Given the description of an element on the screen output the (x, y) to click on. 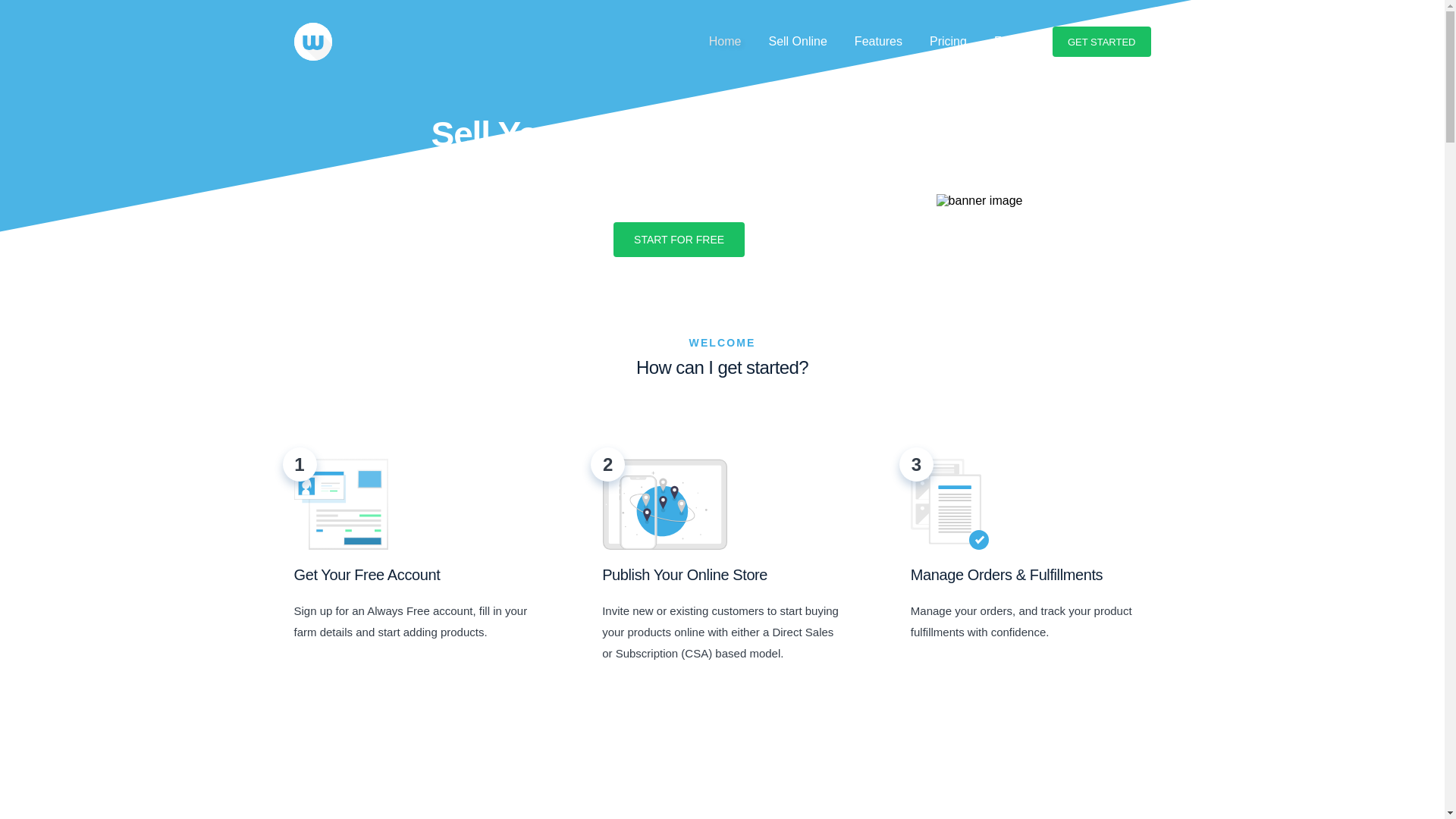
HomeSell OnlineFeaturesPricingFAQ (863, 41)
START FOR FREE (678, 239)
Pricing (948, 41)
Features (877, 41)
Home (724, 41)
Sell Online (796, 41)
FAQ (1006, 41)
GET STARTED (1101, 41)
